Given the description of an element on the screen output the (x, y) to click on. 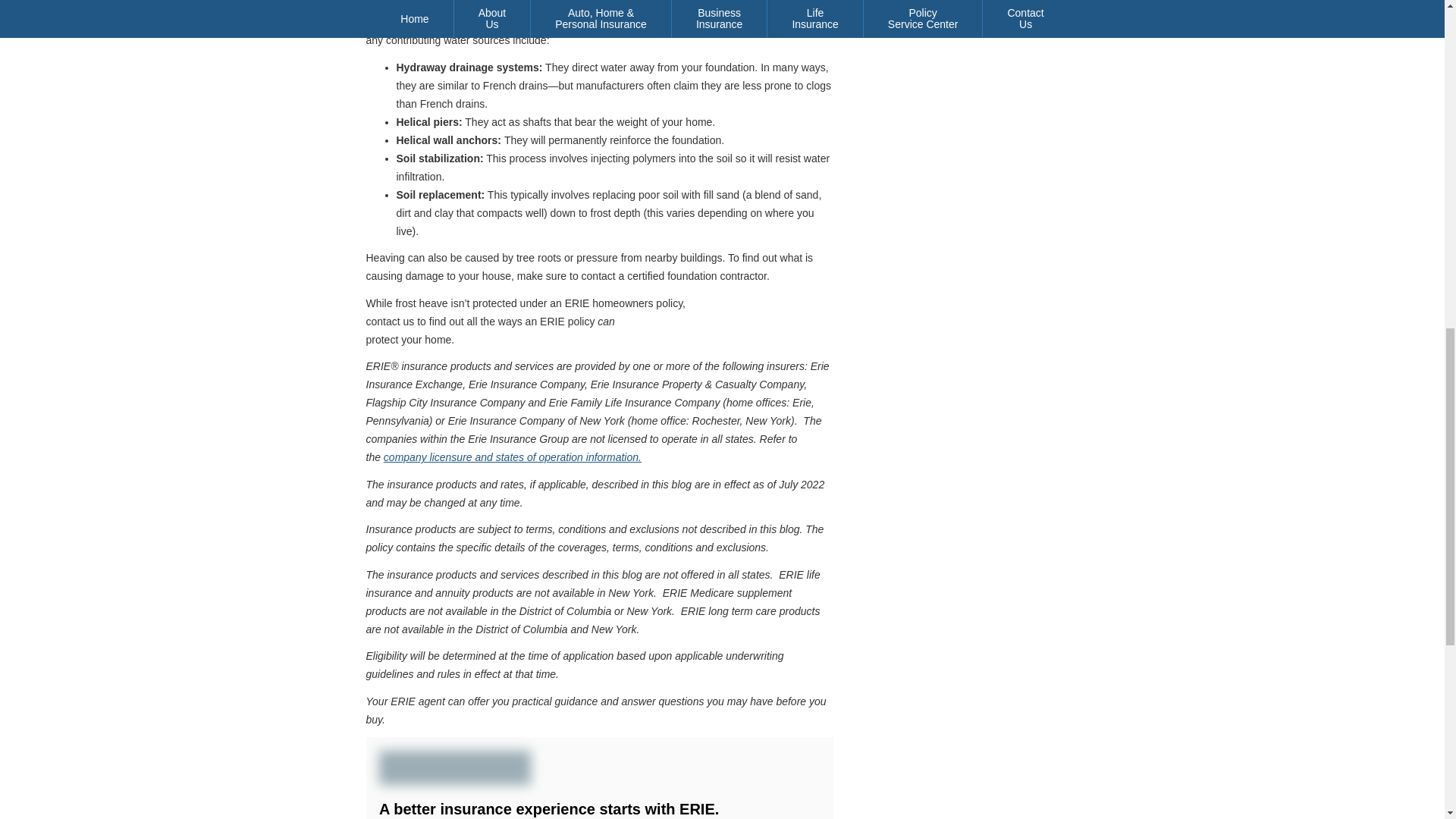
company licensure and states of operation information. (513, 457)
